Given the description of an element on the screen output the (x, y) to click on. 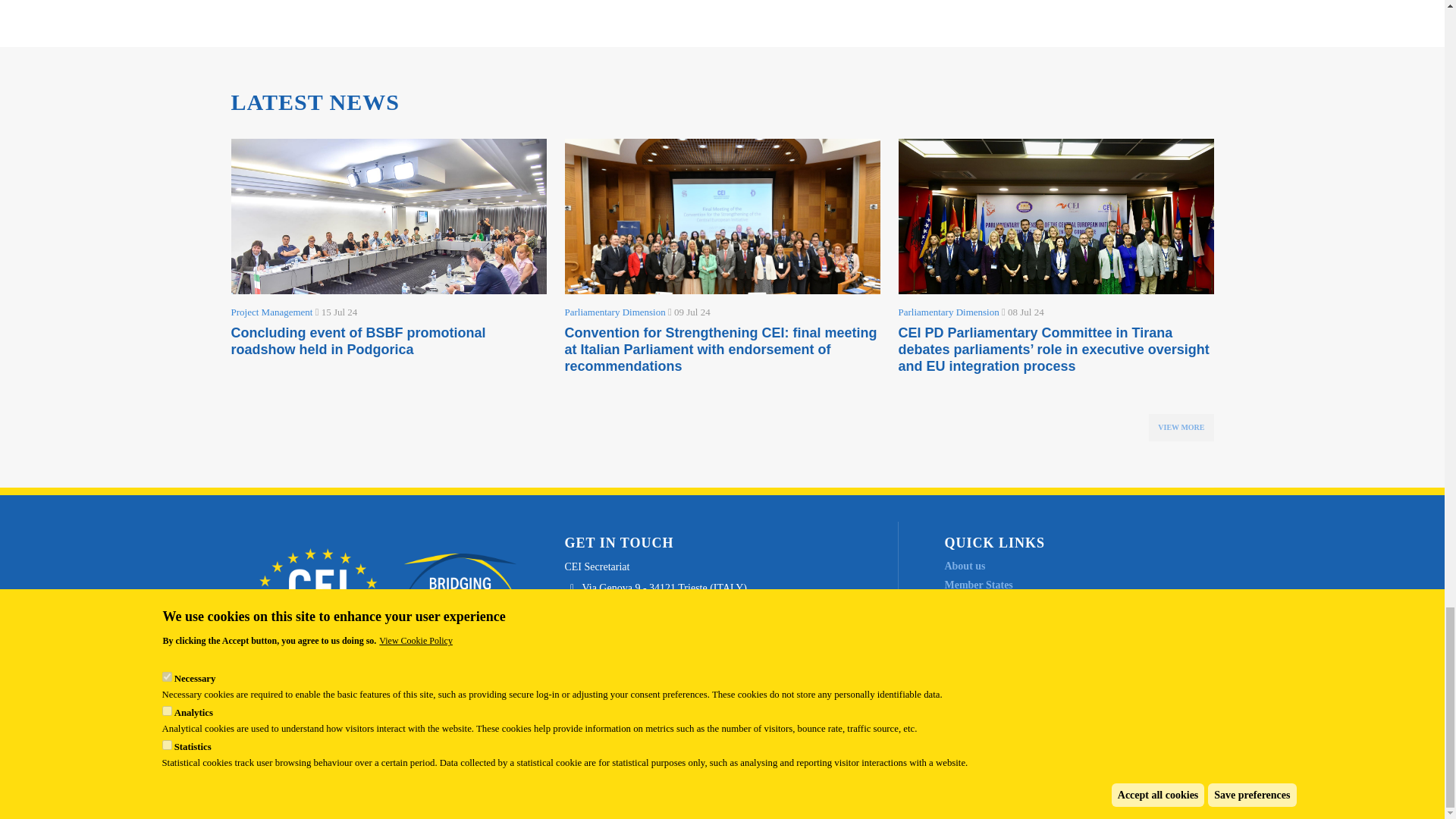
Public Information (986, 718)
Home (388, 582)
